Given the description of an element on the screen output the (x, y) to click on. 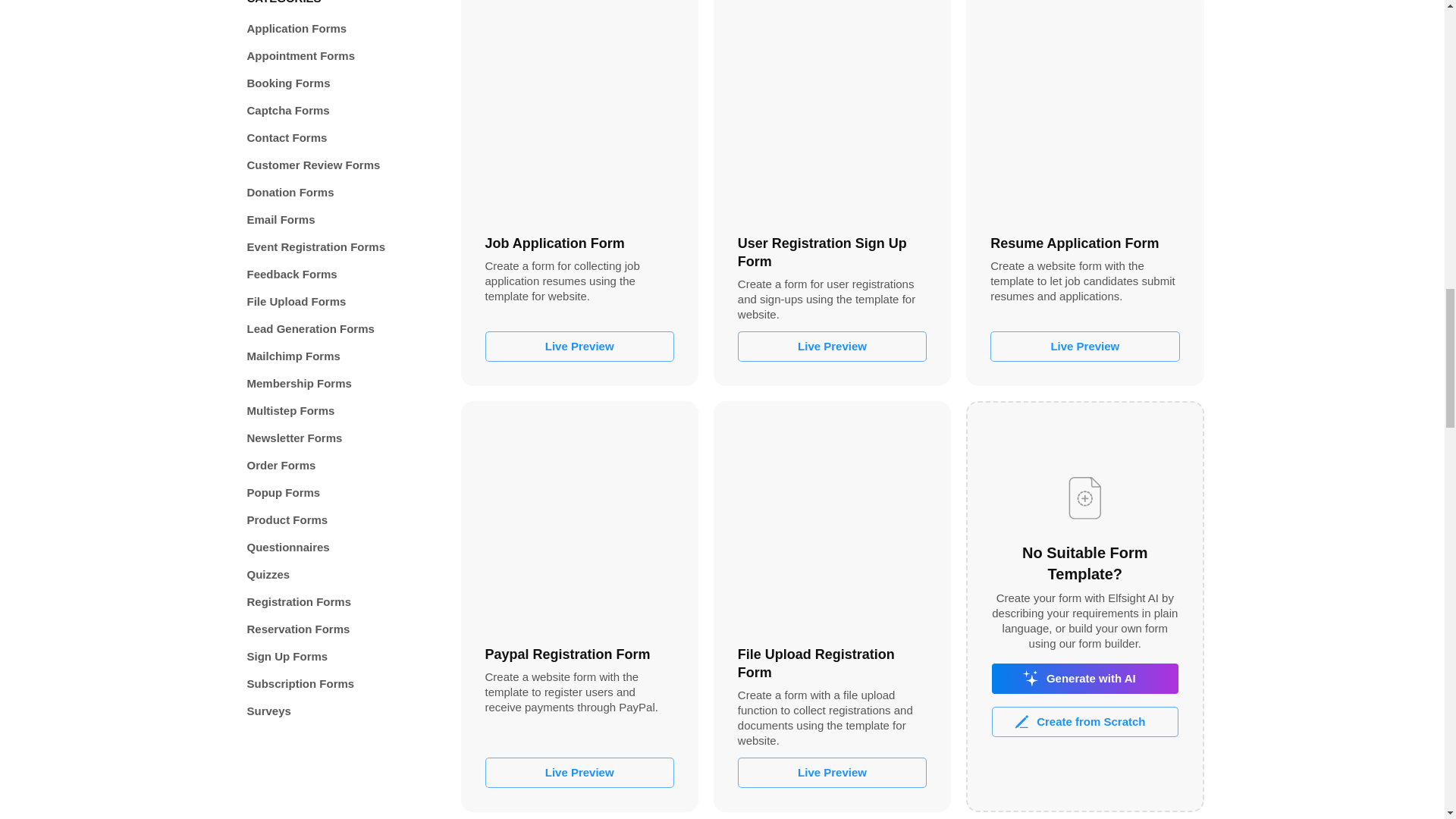
Job Application Form (579, 109)
Paypal Registration Form (579, 519)
User Registration Sign Up Form (832, 109)
File Upload Registration Form (832, 519)
Resume Application Form (1084, 109)
